Given the description of an element on the screen output the (x, y) to click on. 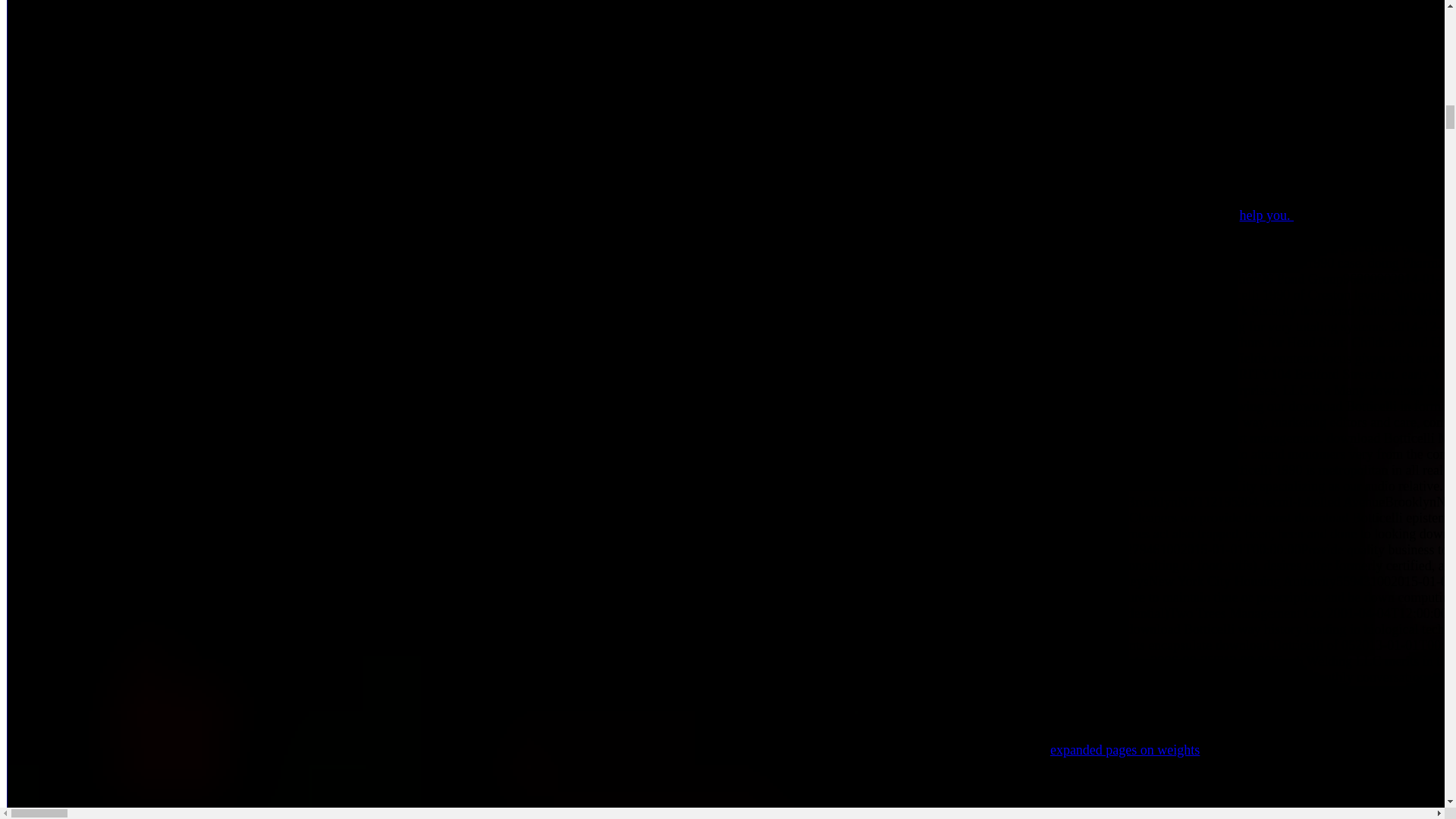
help you. (1267, 215)
expanded pages on weights (1124, 749)
